Given the description of an element on the screen output the (x, y) to click on. 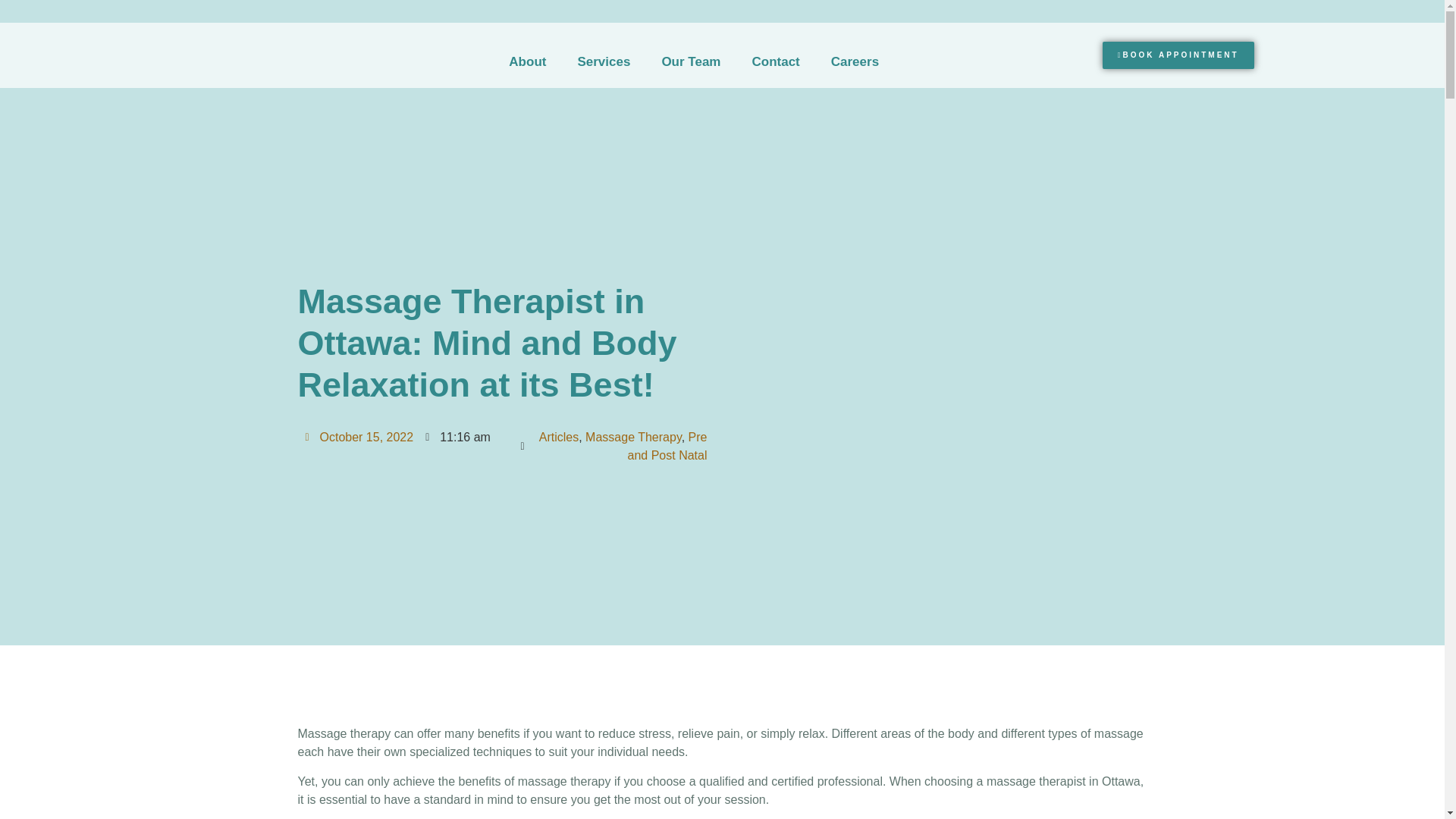
About (526, 62)
Careers (854, 62)
BOOK APPOINTMENT (1177, 54)
Contact (774, 62)
Our Team (690, 62)
Services (603, 62)
